Given the description of an element on the screen output the (x, y) to click on. 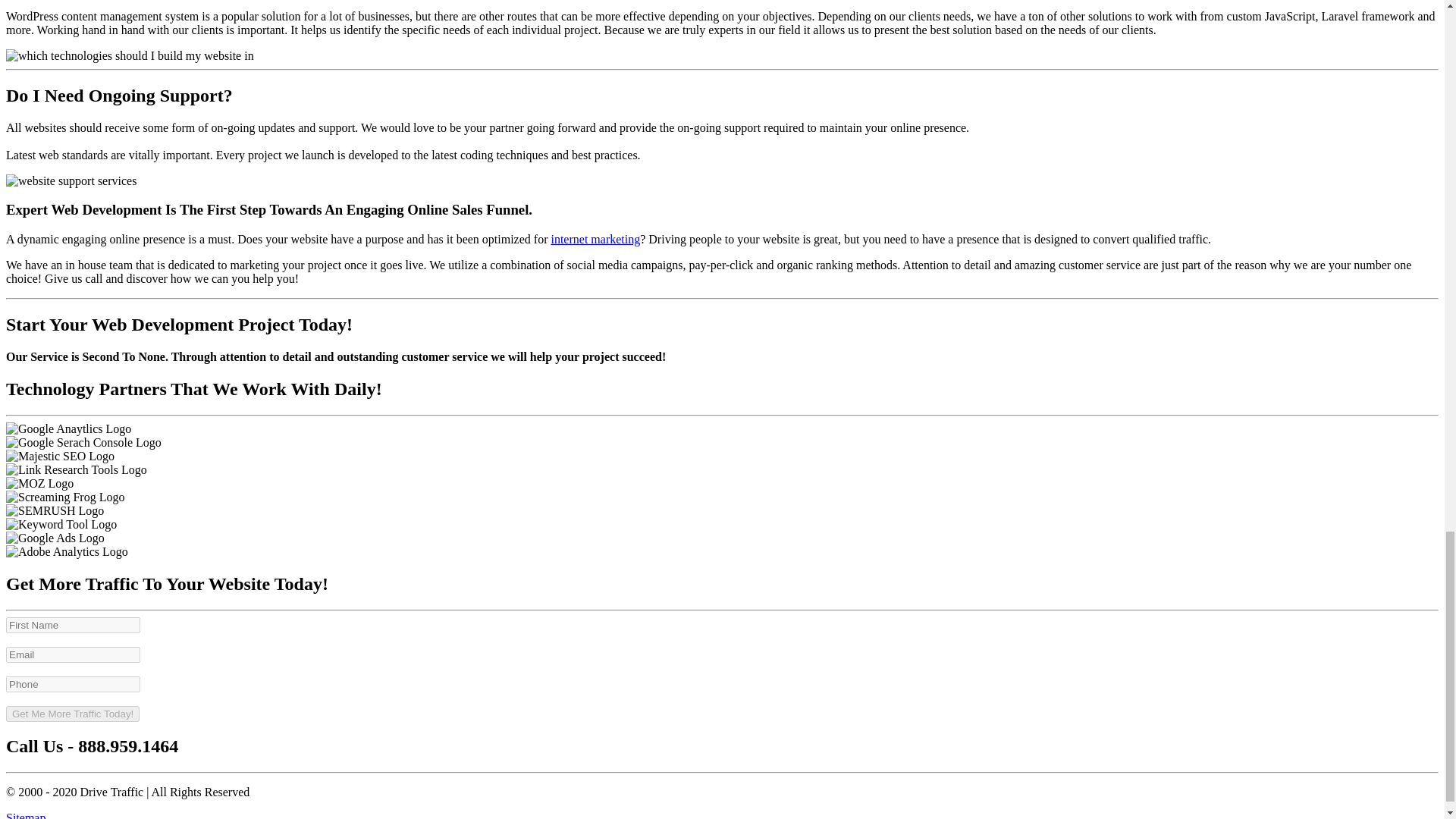
internet marketing (595, 238)
Get Me More Traffic Today! (72, 713)
Get Me More Traffic Today! (72, 713)
